Given the description of an element on the screen output the (x, y) to click on. 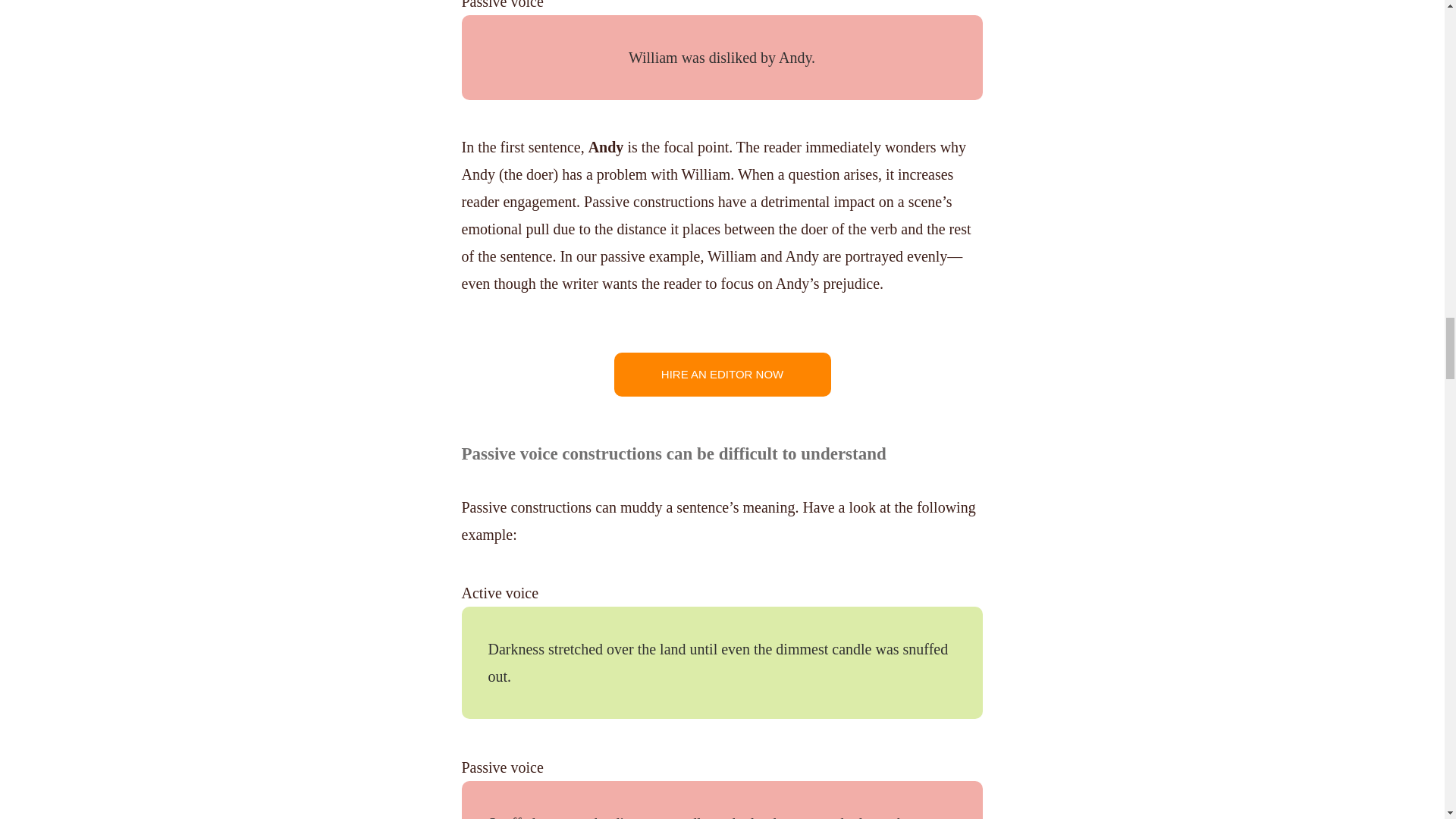
HIRE AN EDITOR NOW (722, 374)
